Given the description of an element on the screen output the (x, y) to click on. 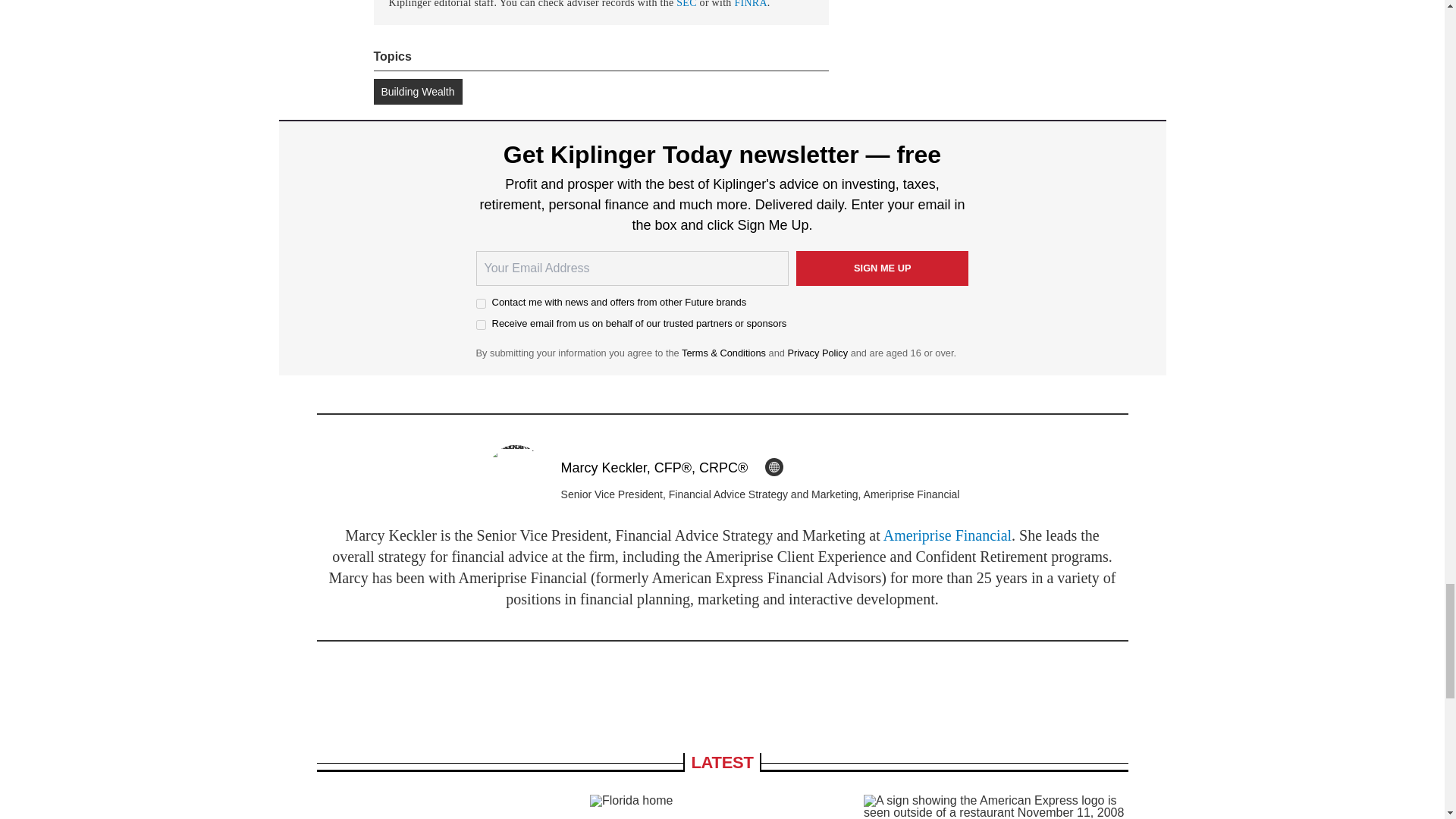
on (481, 325)
on (481, 303)
Sign me up (882, 267)
